Given the description of an element on the screen output the (x, y) to click on. 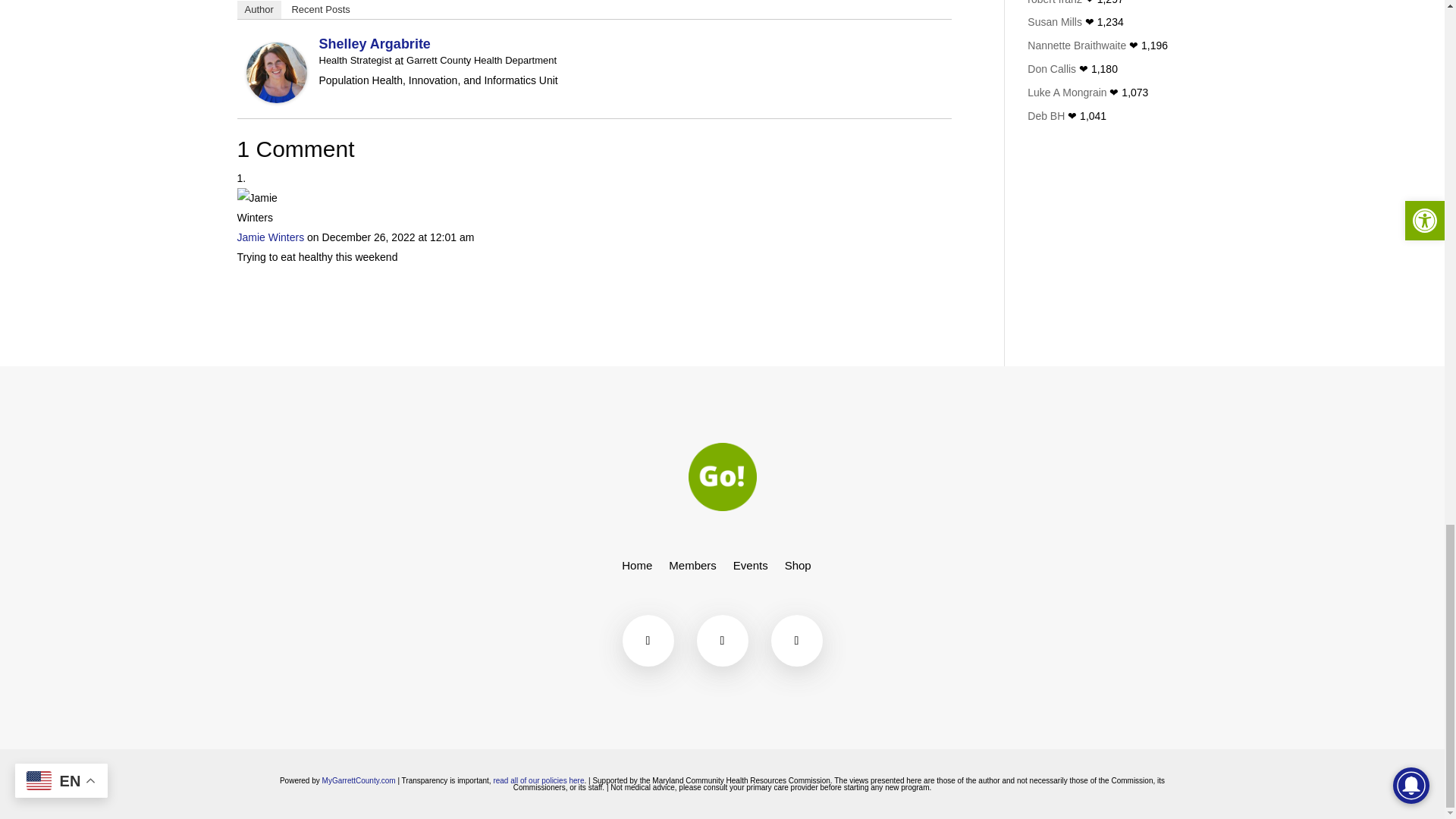
Follow on X (721, 640)
Follow on Facebook (646, 640)
cropped-go (722, 477)
Shelley Argabrite (275, 92)
